Given the description of an element on the screen output the (x, y) to click on. 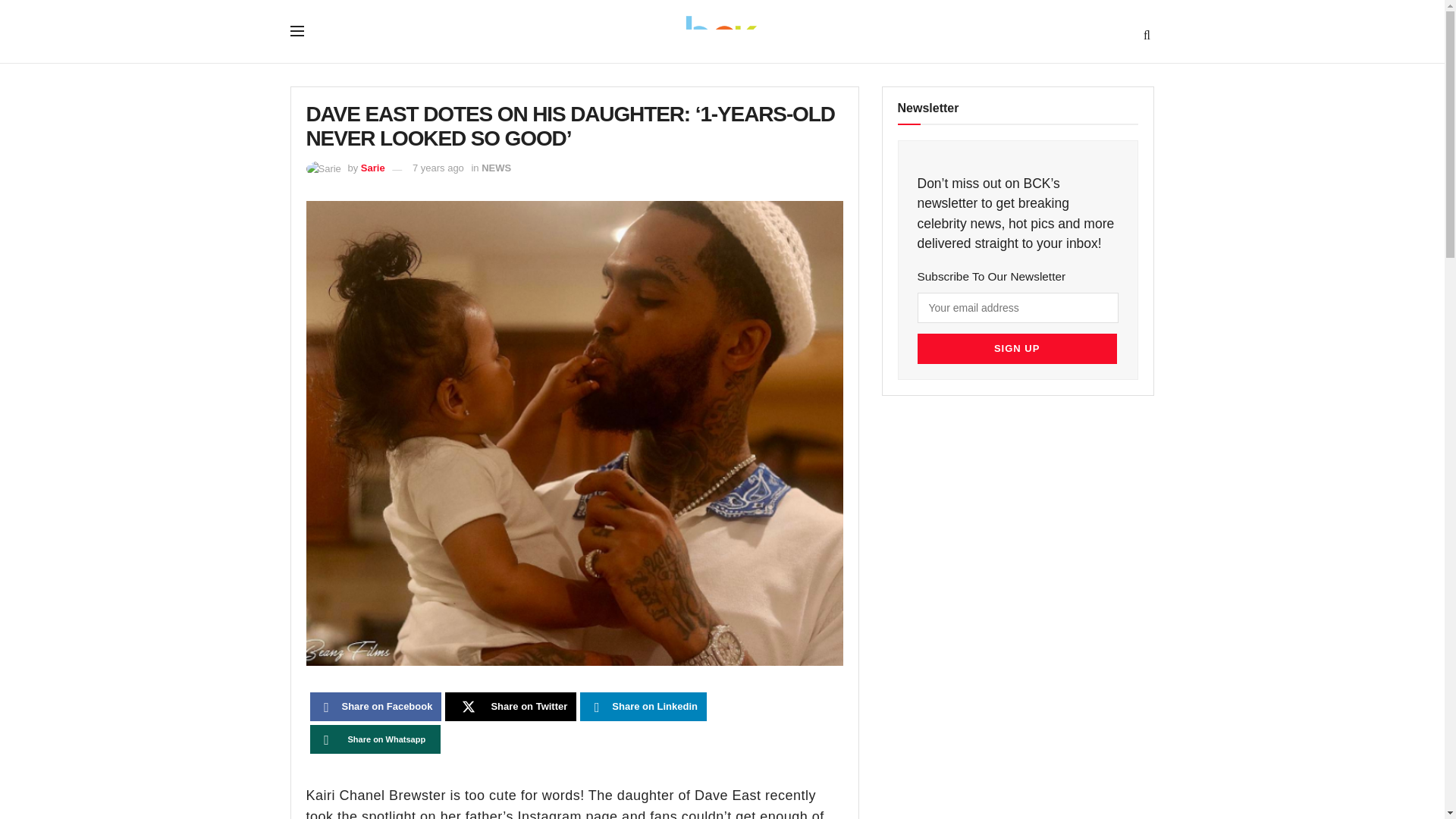
7 years ago (438, 167)
NEWS (496, 167)
Sarie (373, 167)
Share on Linkedin (642, 706)
Share on Whatsapp (374, 738)
Share on Twitter (510, 706)
Sign up (1016, 348)
Share on Facebook (374, 706)
